Given the description of an element on the screen output the (x, y) to click on. 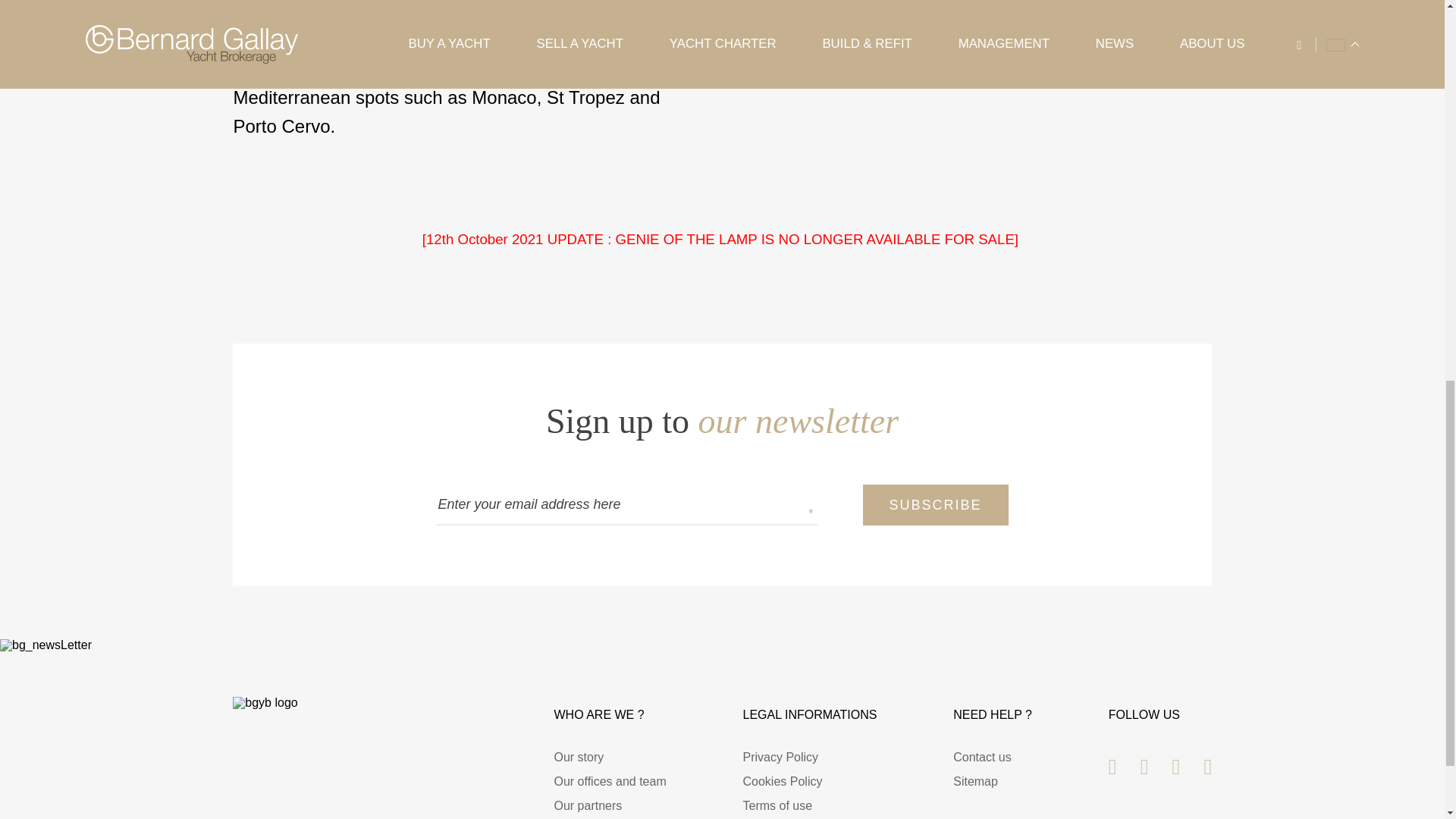
SUBSCRIBE (936, 504)
